Given the description of an element on the screen output the (x, y) to click on. 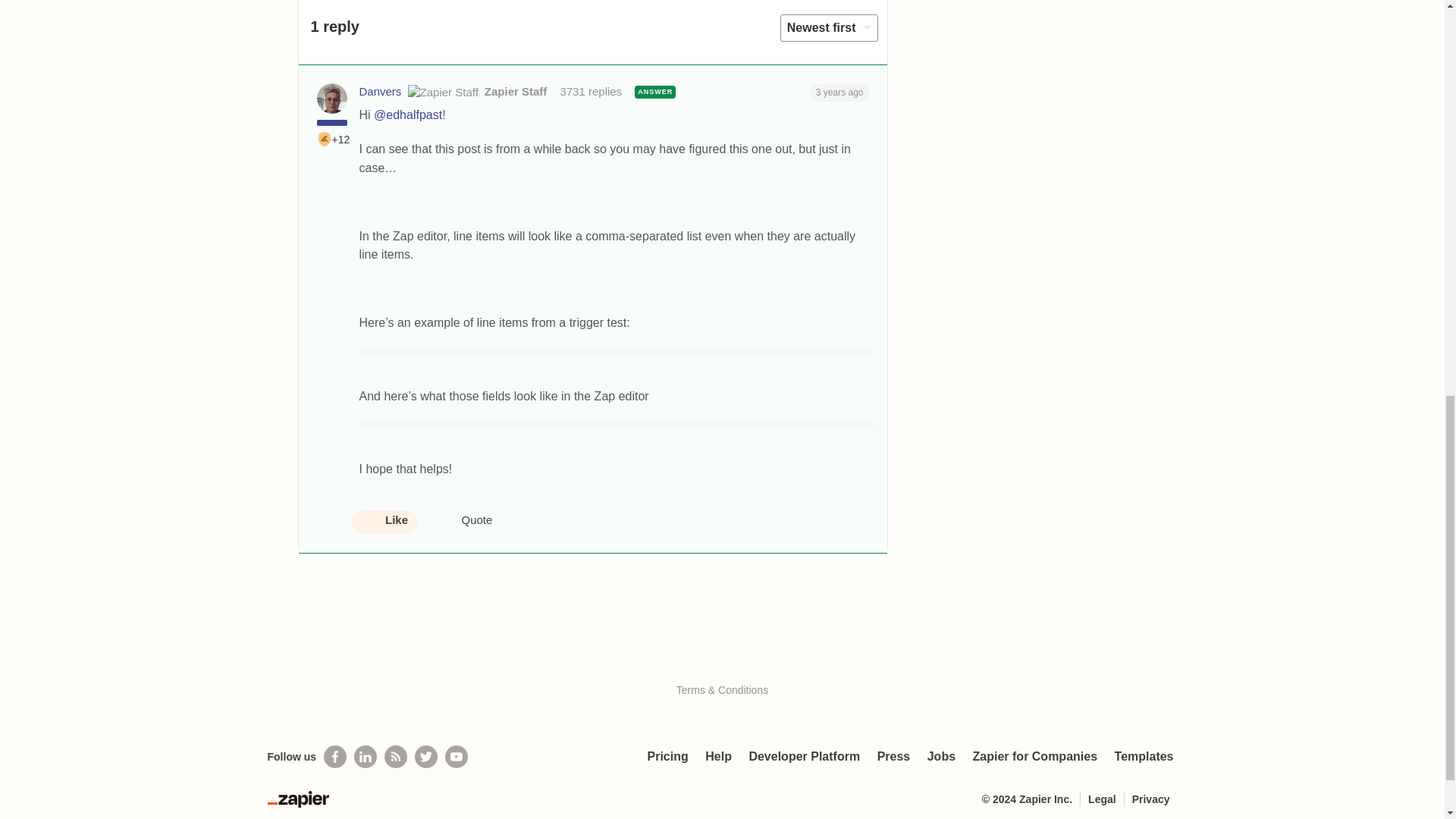
Danvers (380, 91)
Visit Gainsight.com (722, 658)
Subscribe to our blog (395, 756)
See helpful Zapier videos on Youtube (456, 756)
First Best Answer (324, 139)
Follow us on LinkedIn (365, 756)
Follow us on Facebook (334, 756)
